Given the description of an element on the screen output the (x, y) to click on. 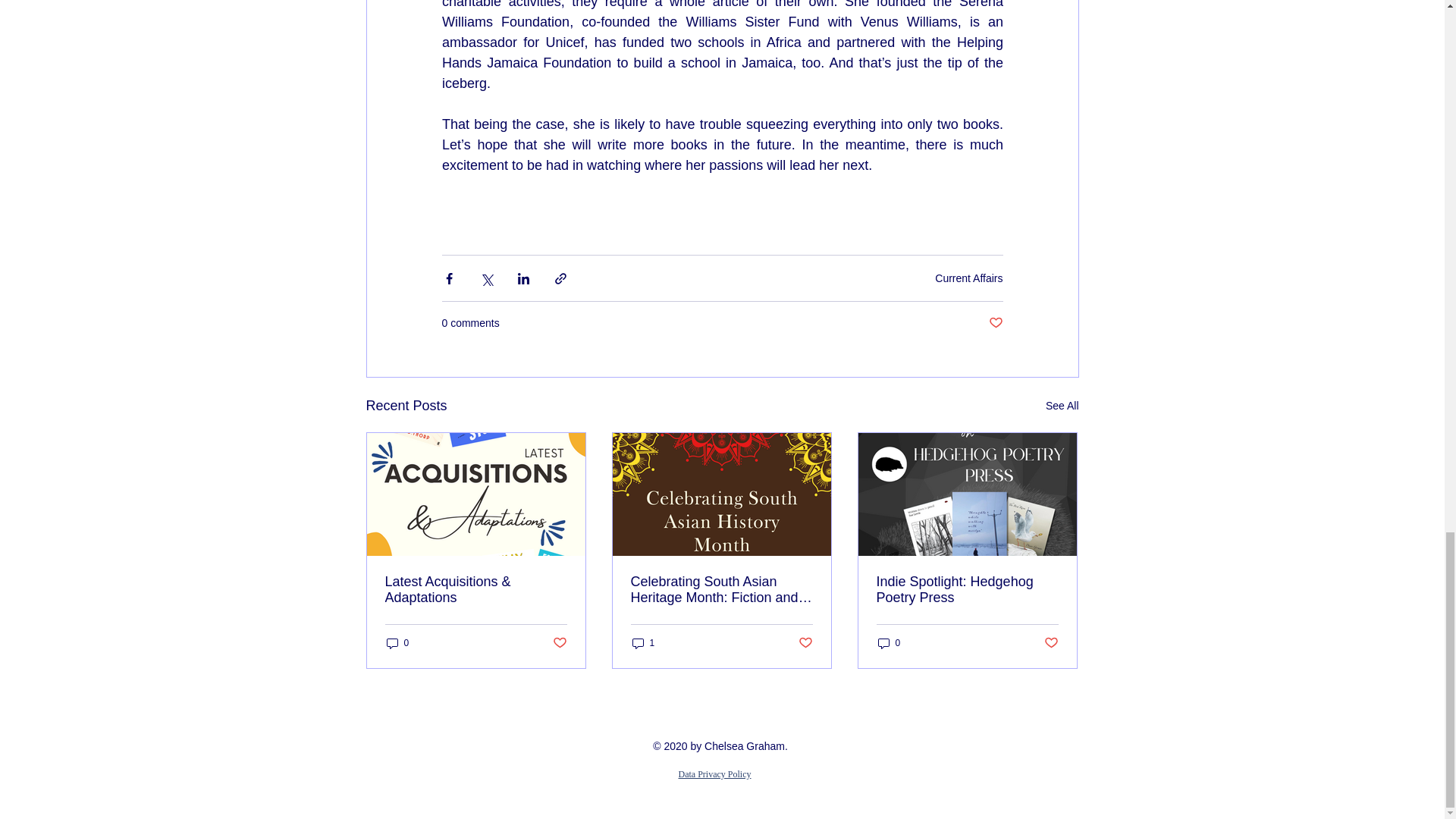
Celebrating South Asian Heritage Month: Fiction and Poetry (721, 590)
Data Privacy Policy (714, 772)
0 (397, 642)
Post not marked as liked (558, 643)
1 (643, 642)
Post not marked as liked (804, 643)
Post not marked as liked (1050, 643)
Indie Spotlight: Hedgehog Poetry Press (967, 590)
Post not marked as liked (995, 323)
See All (1061, 405)
Current Affairs (968, 277)
0 (889, 642)
